Given the description of an element on the screen output the (x, y) to click on. 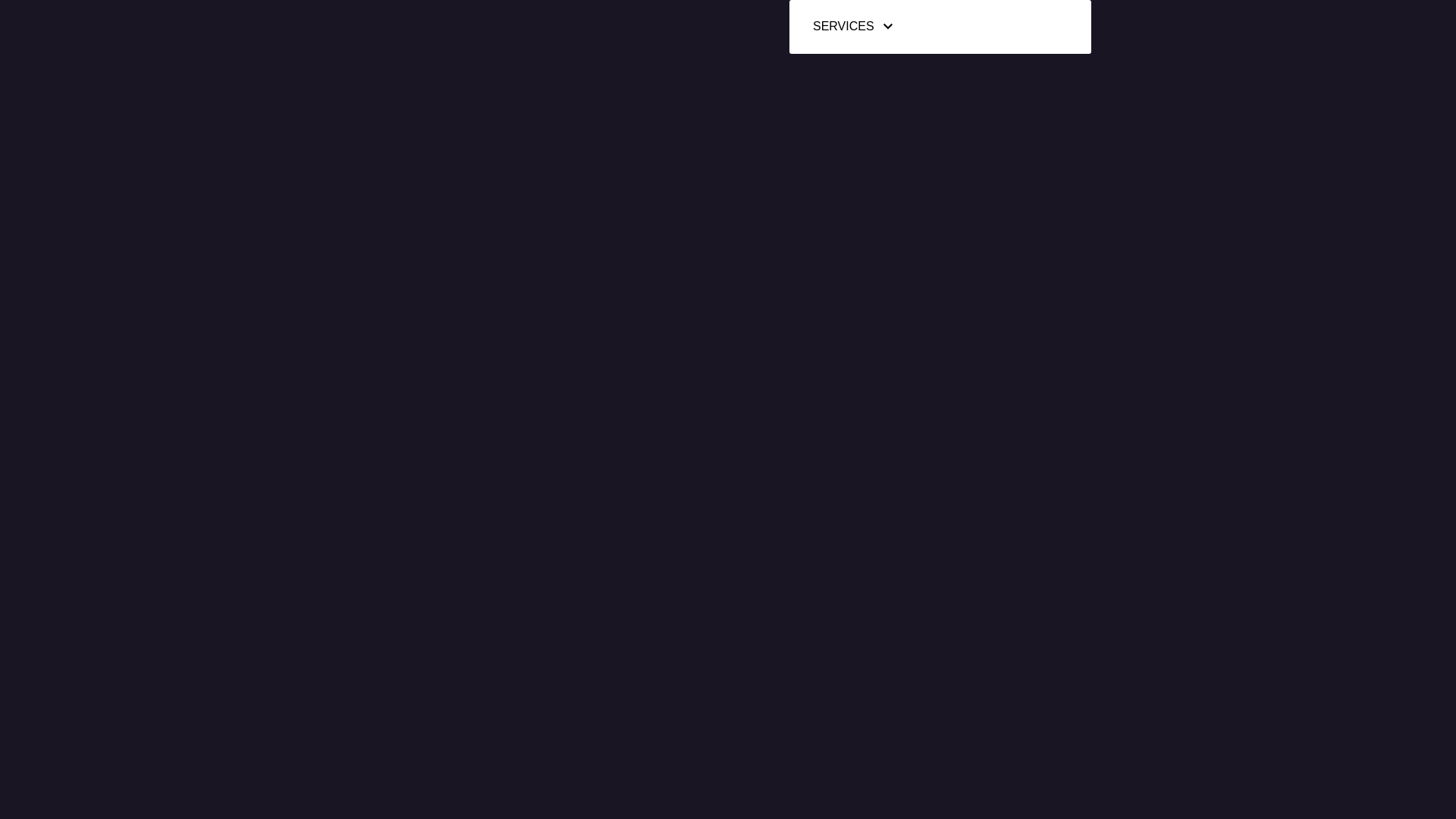
SERVICES Element type: text (852, 26)
